Given the description of an element on the screen output the (x, y) to click on. 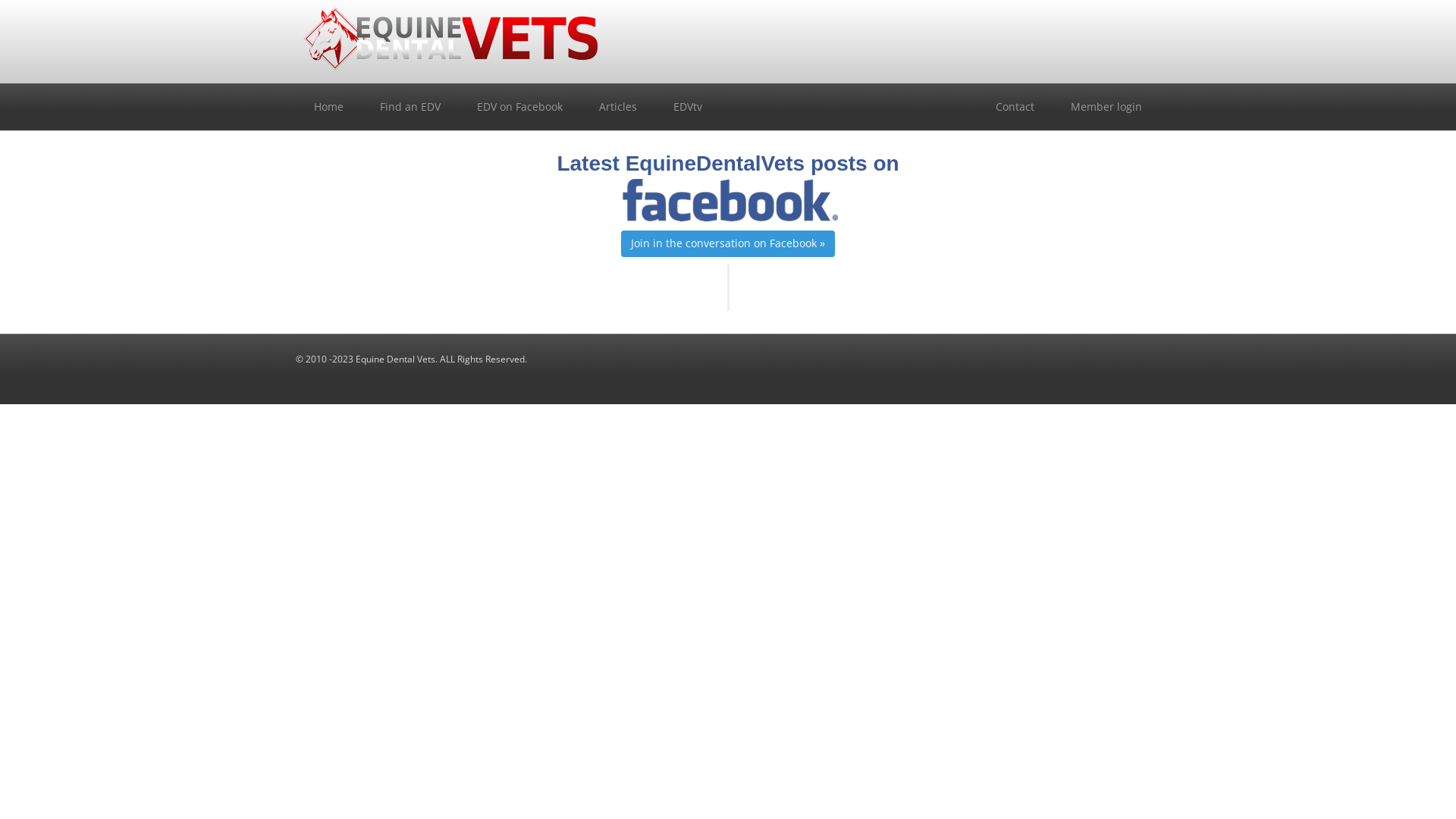
Member login Element type: text (1106, 106)
EDV on Facebook Element type: text (519, 106)
Contact Element type: text (1014, 106)
Find an EDV Element type: text (409, 106)
EDVtv Element type: text (687, 106)
Home Element type: text (328, 106)
Articles Element type: text (617, 106)
